Given the description of an element on the screen output the (x, y) to click on. 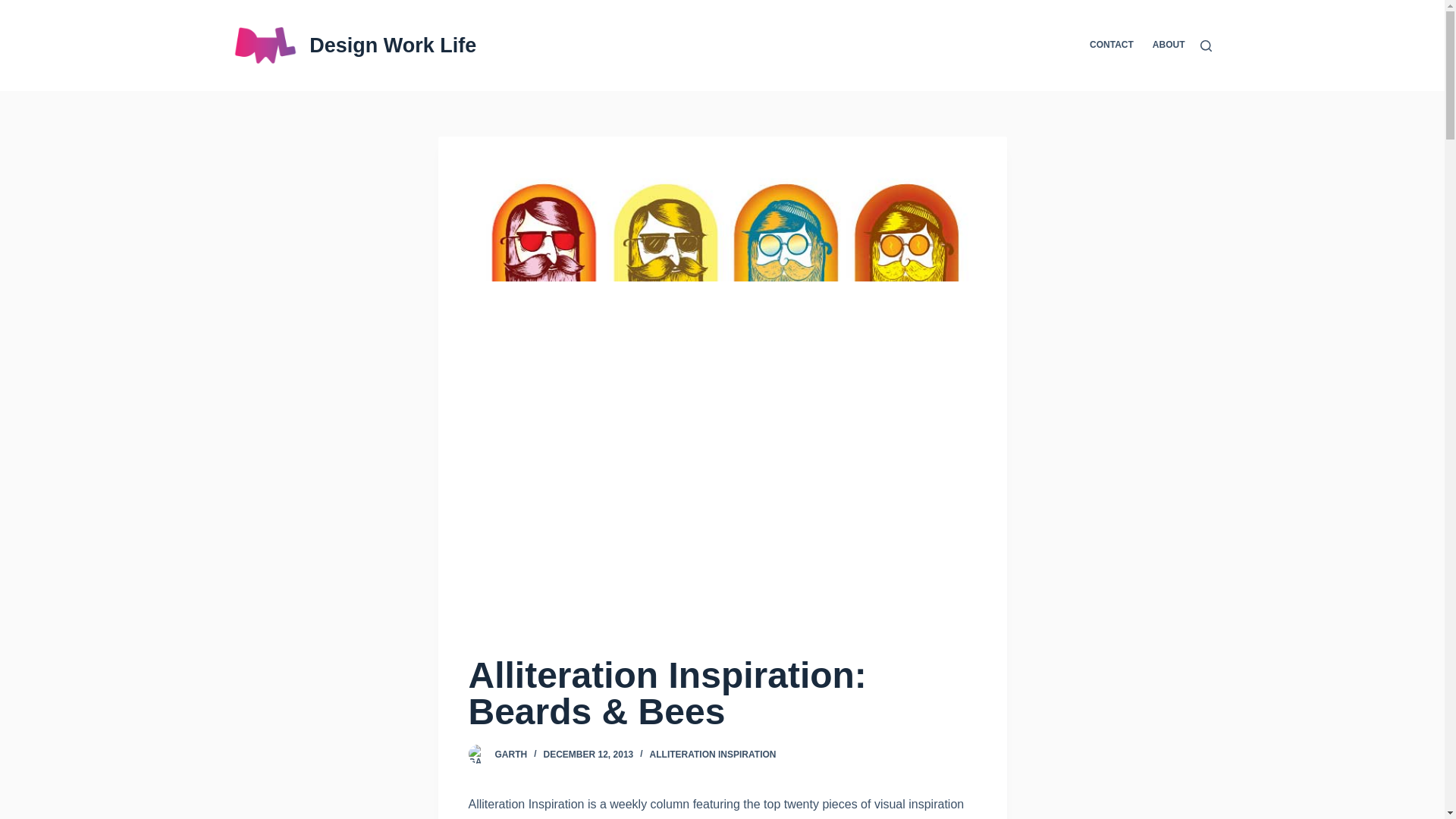
Design Work Life (392, 45)
Posts by Garth (511, 754)
Skip to content (15, 7)
ALLITERATION INSPIRATION (712, 754)
GARTH (511, 754)
